Given the description of an element on the screen output the (x, y) to click on. 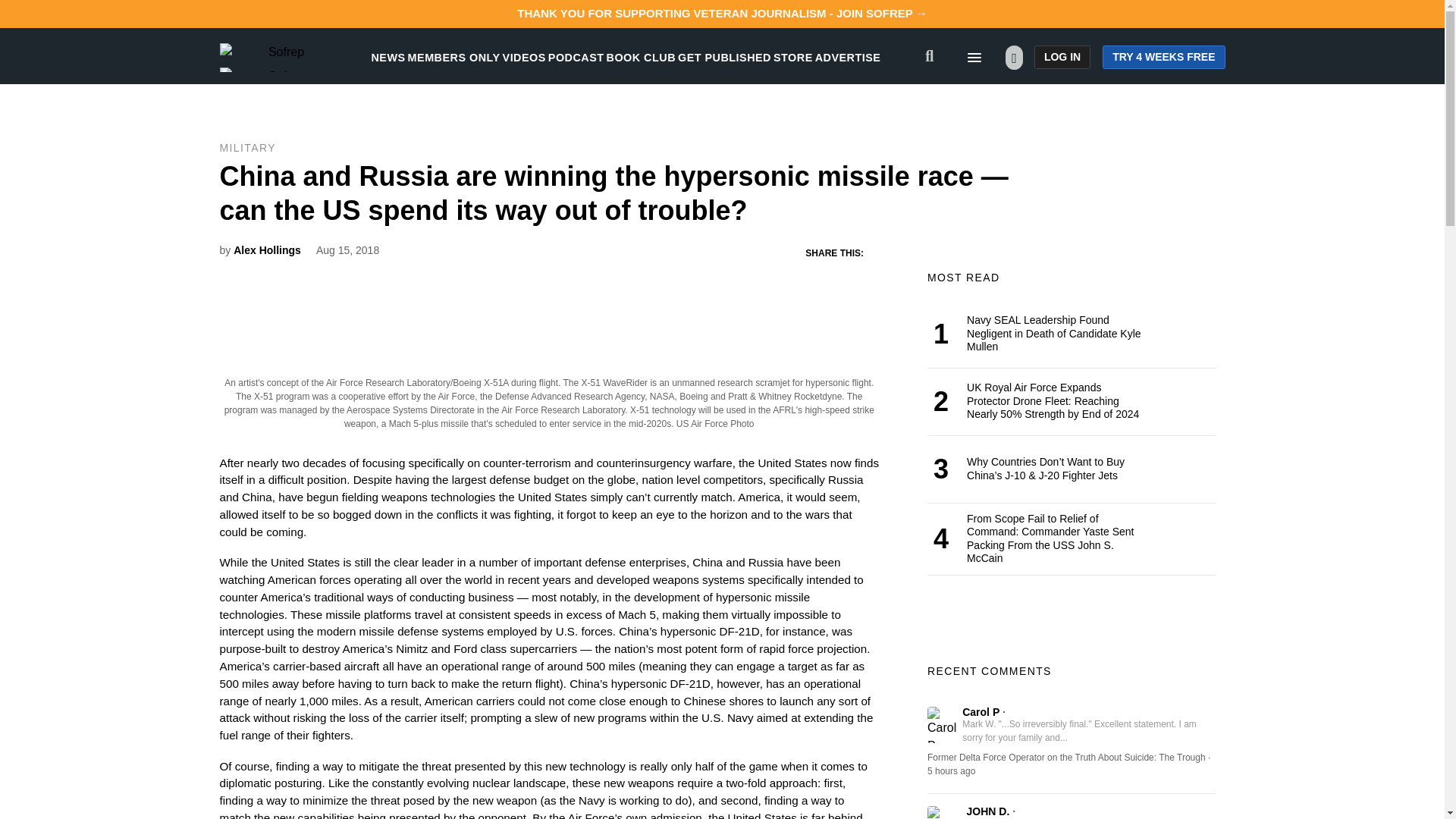
MEMBERS ONLY (453, 57)
ADVERTISE (847, 57)
GET PUBLISHED (724, 57)
PODCAST (576, 57)
STORE (792, 57)
VIDEOS (524, 57)
NEWS (388, 57)
BOOK CLUB (641, 57)
LOG IN (1061, 56)
TRY 4 WEEKS FREE (1163, 56)
